Given the description of an element on the screen output the (x, y) to click on. 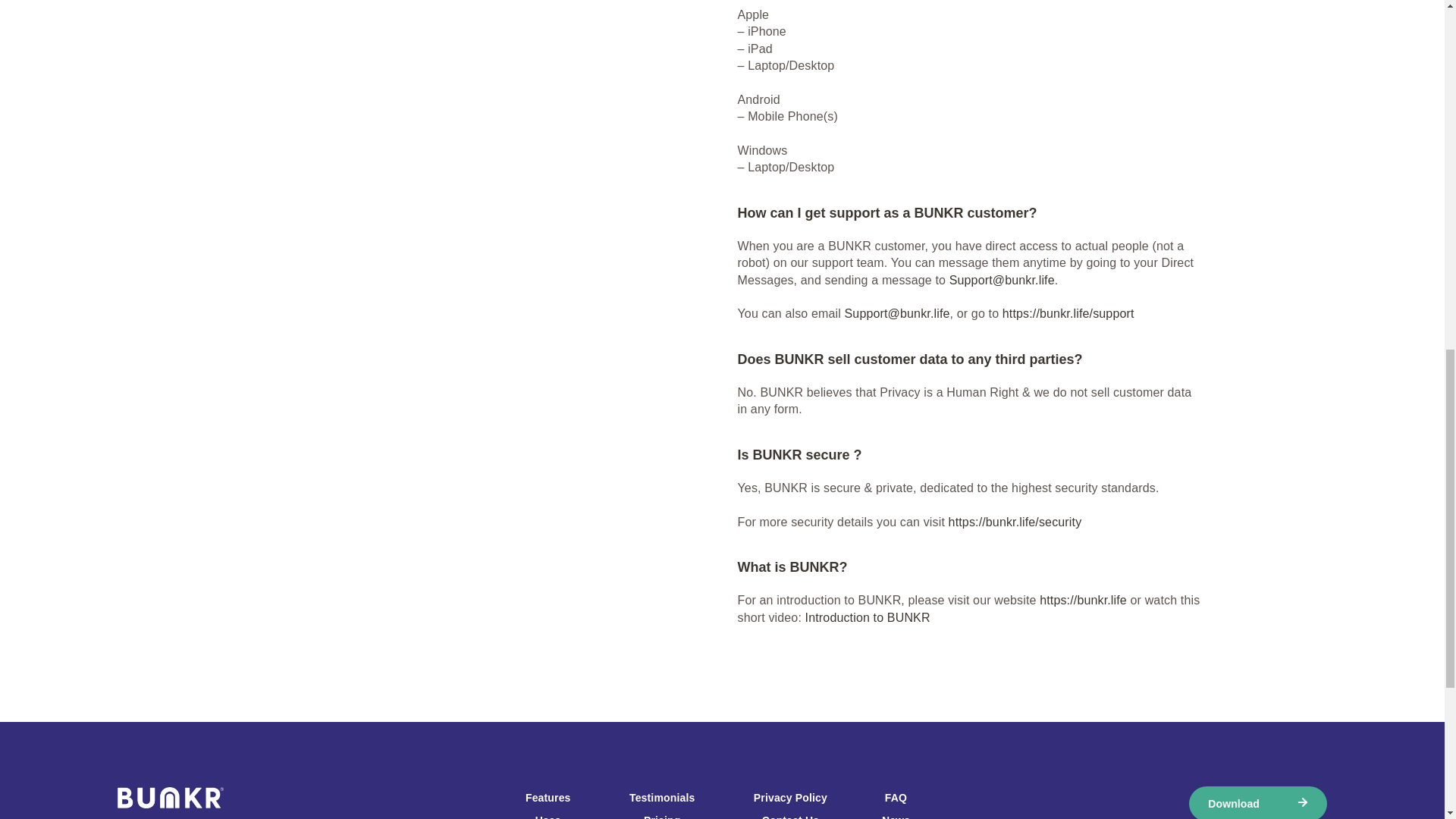
Introduction to BUNKR (867, 617)
